Given the description of an element on the screen output the (x, y) to click on. 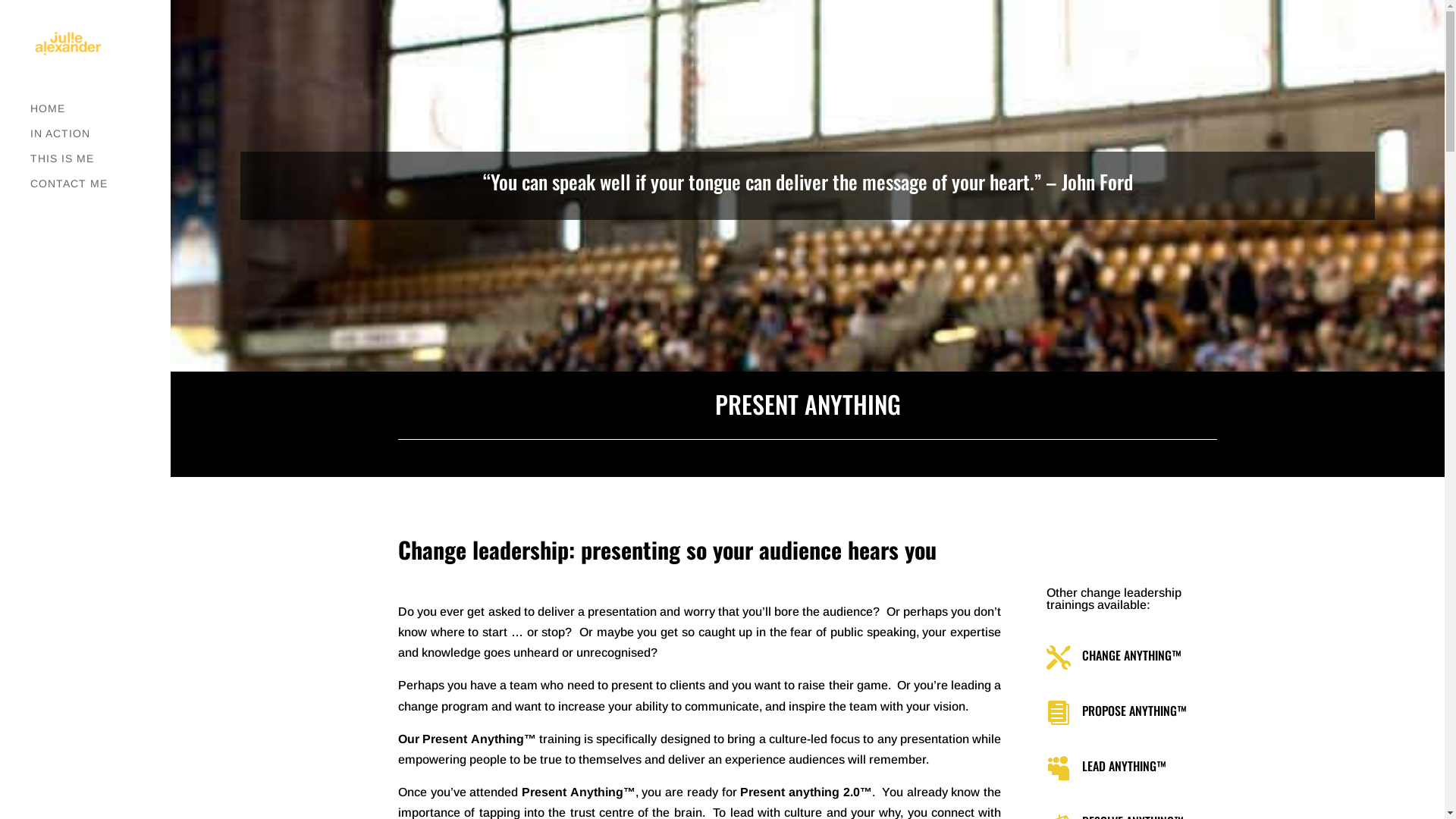
CONTACT ME Element type: text (100, 190)
THIS IS ME Element type: text (100, 165)
IN ACTION Element type: text (100, 140)
HOME Element type: text (100, 115)
